Given the description of an element on the screen output the (x, y) to click on. 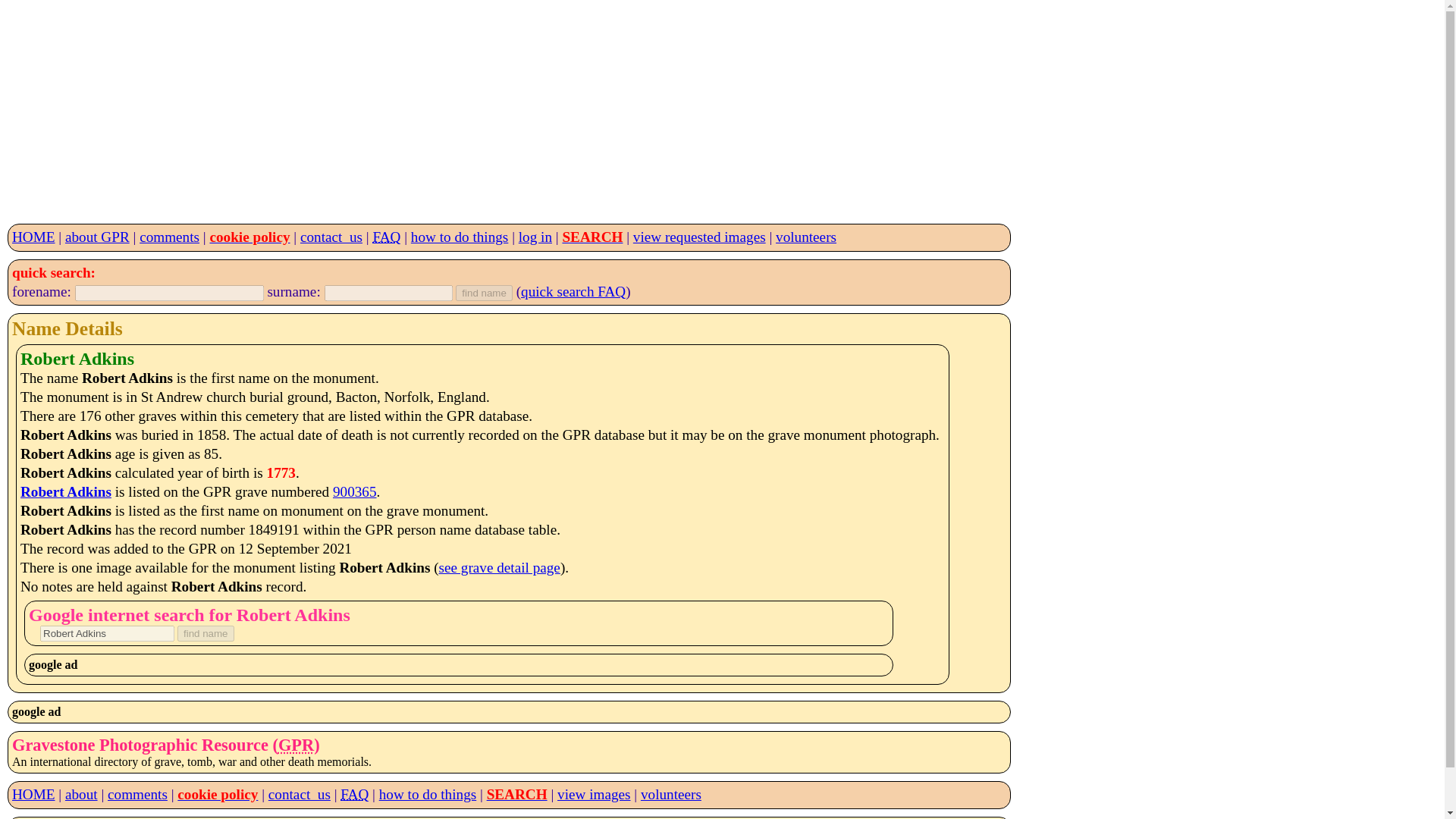
Robert Adkins (66, 491)
HOME (33, 236)
find name (483, 293)
volunteers (670, 794)
log in (534, 236)
Frequently Asked Questions (386, 236)
see grave detail page (499, 567)
find name (205, 633)
cookie policy (217, 794)
comments (137, 794)
comments (169, 236)
volunteers (805, 236)
FAQ (386, 236)
SEARCH (516, 794)
Robert Adkins (107, 633)
